Given the description of an element on the screen output the (x, y) to click on. 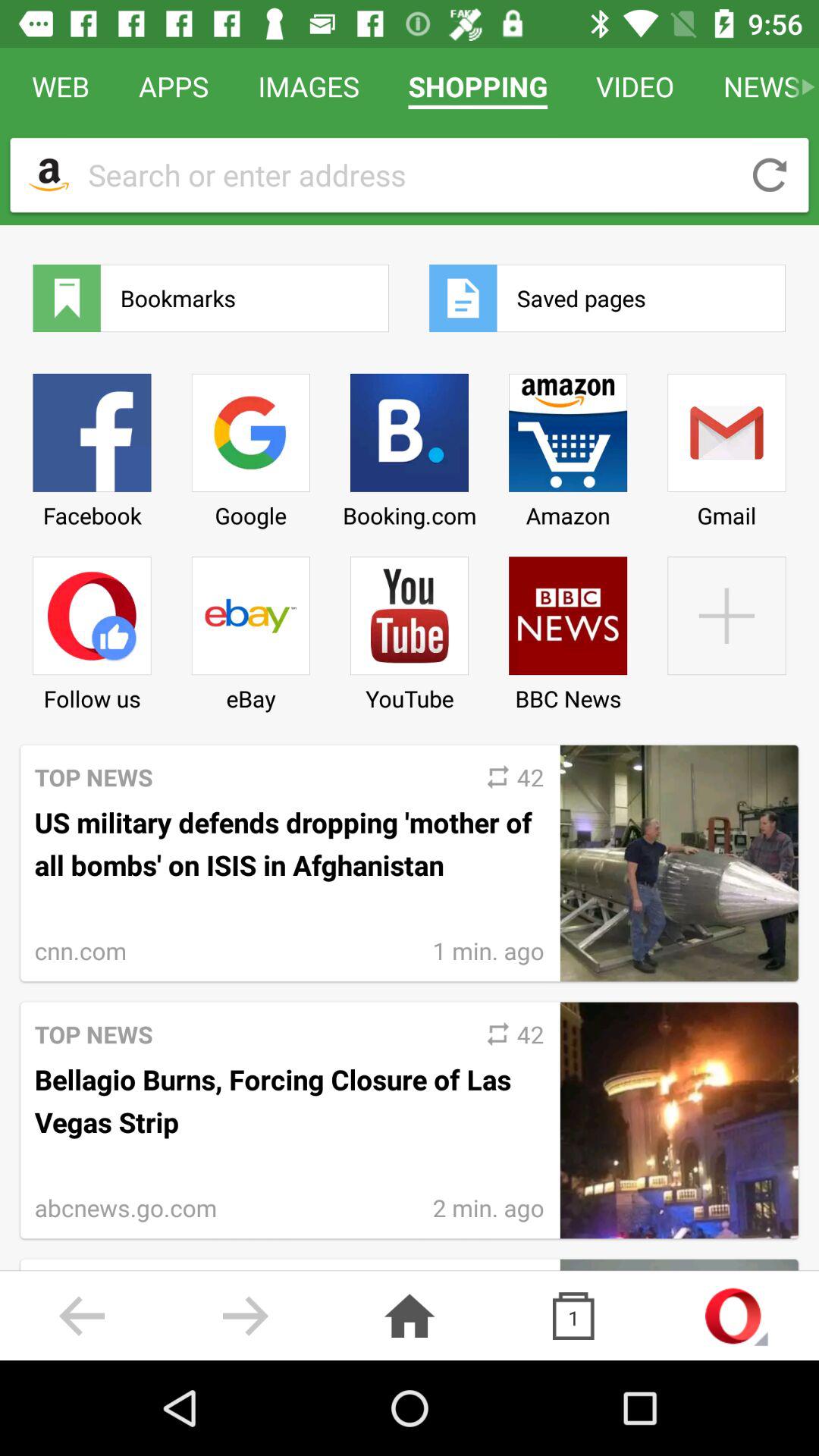
turn on icon to the right of the facebook item (250, 444)
